Given the description of an element on the screen output the (x, y) to click on. 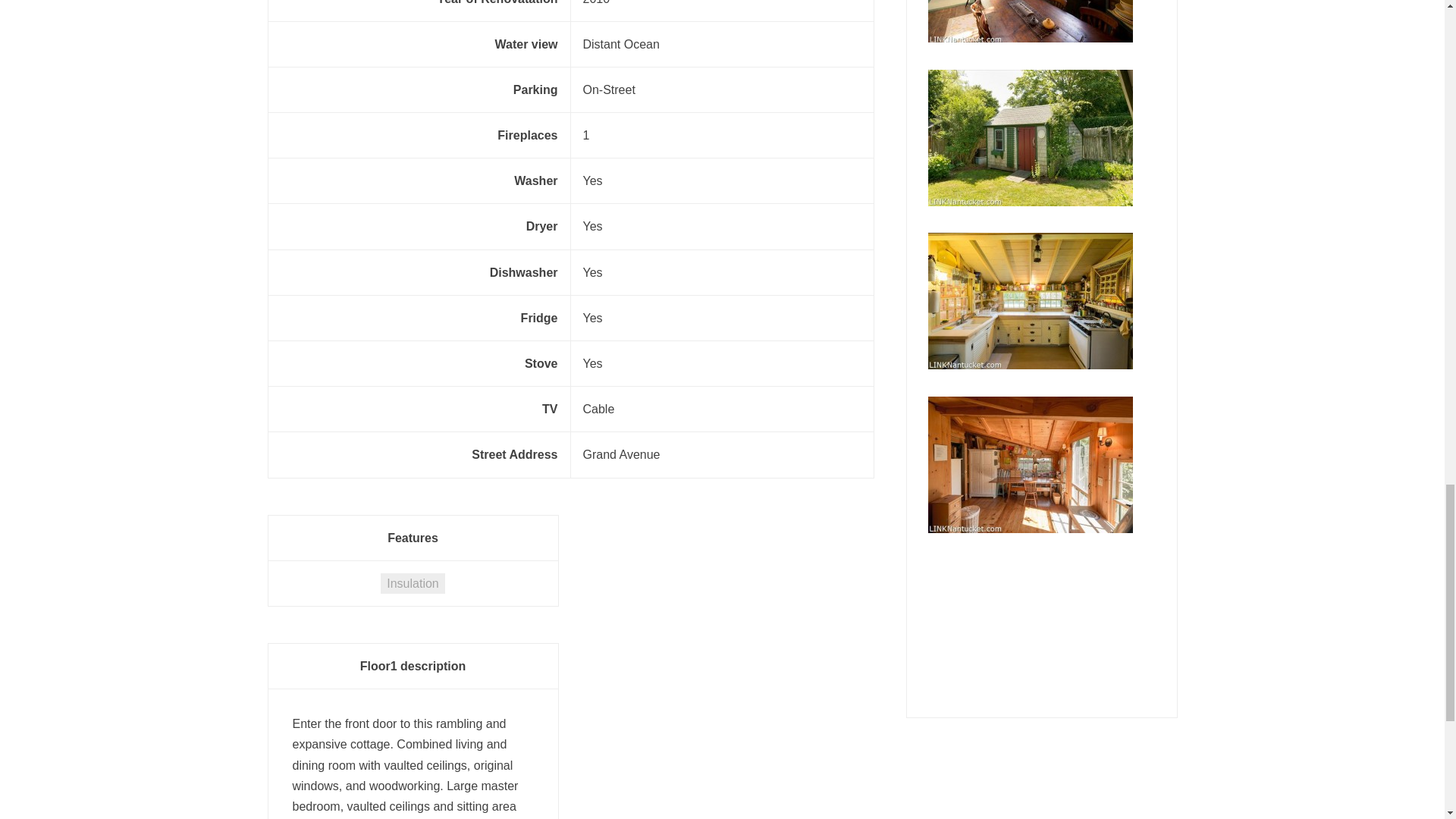
Property Image (1030, 464)
Property Image (1030, 21)
Property Image (1030, 137)
Property Image (1030, 300)
